Given the description of an element on the screen output the (x, y) to click on. 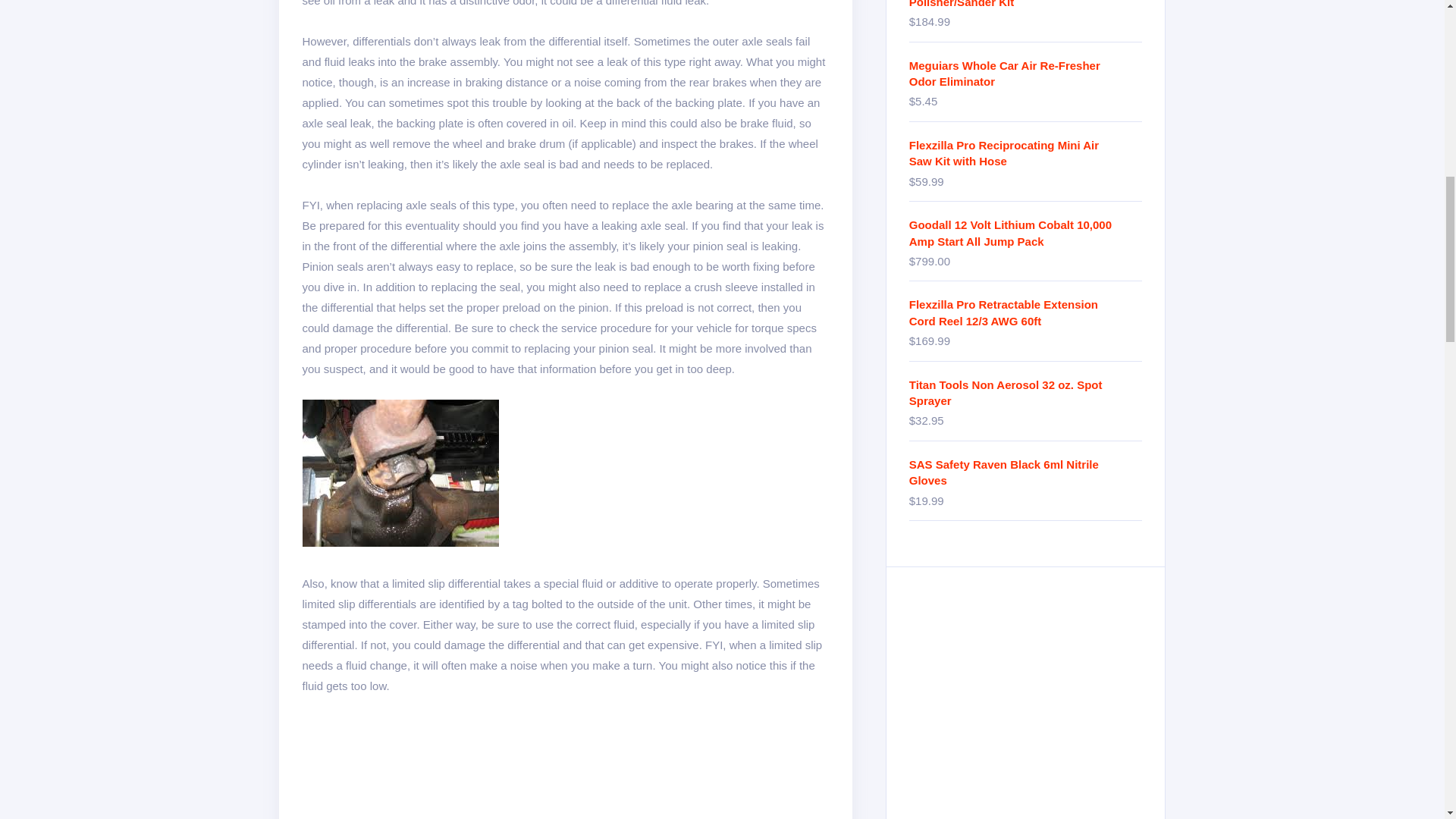
Flexzilla Pro Reciprocating Mini Air Saw Kit with Hose (1025, 153)
Meguiars Whole Car Air Re-Fresher Odor Eliminator (1025, 73)
Titan Tools Non Aerosol 32 oz. Spot Sprayer (1025, 392)
